Given the description of an element on the screen output the (x, y) to click on. 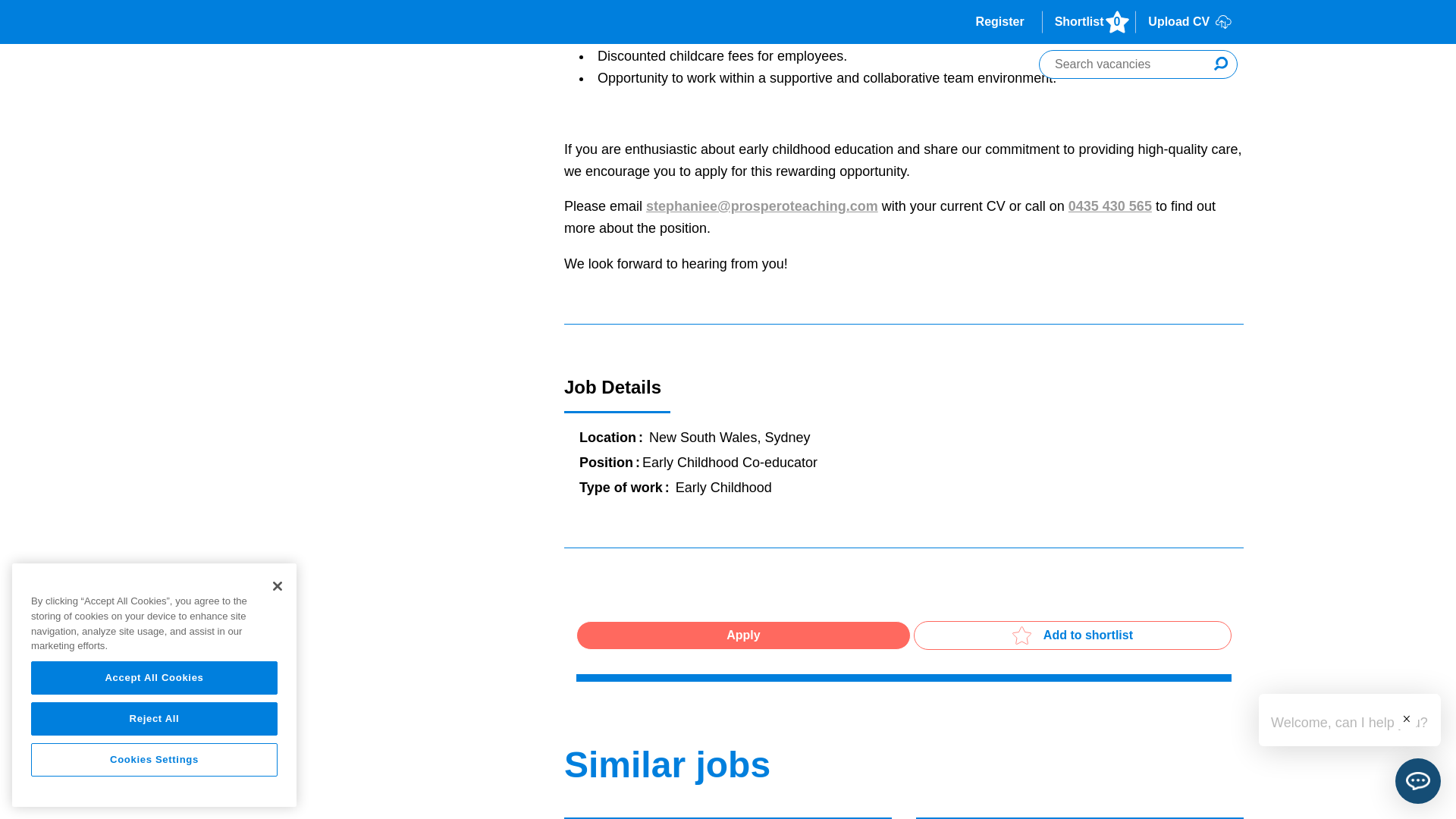
shortlist star (1020, 635)
Apply (743, 635)
0435 430 565 (1109, 206)
